Given the description of an element on the screen output the (x, y) to click on. 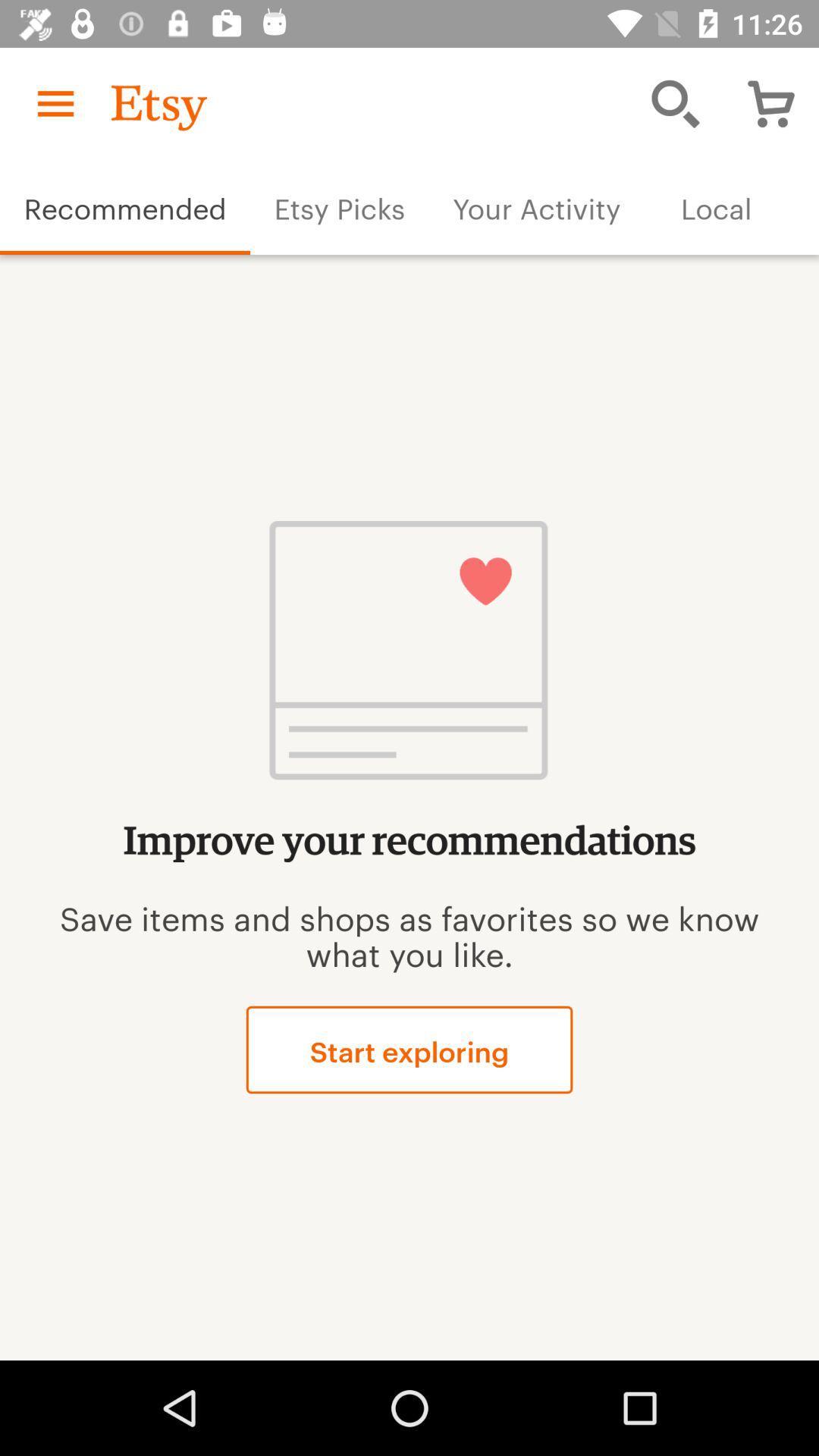
turn off start exploring item (409, 1049)
